Given the description of an element on the screen output the (x, y) to click on. 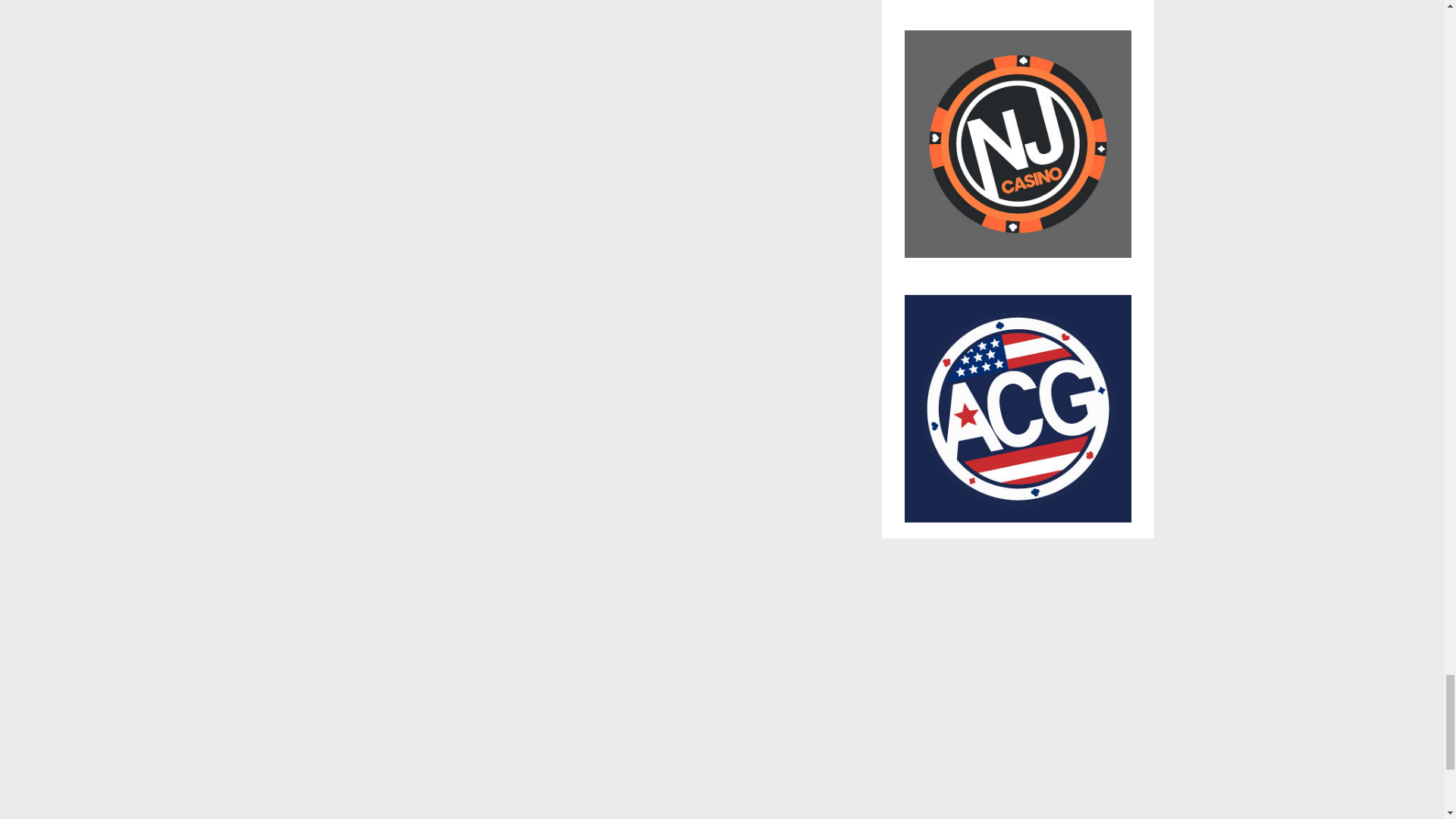
acg casino (1017, 408)
nj casino (1017, 151)
canada casino (1017, 4)
